Given the description of an element on the screen output the (x, y) to click on. 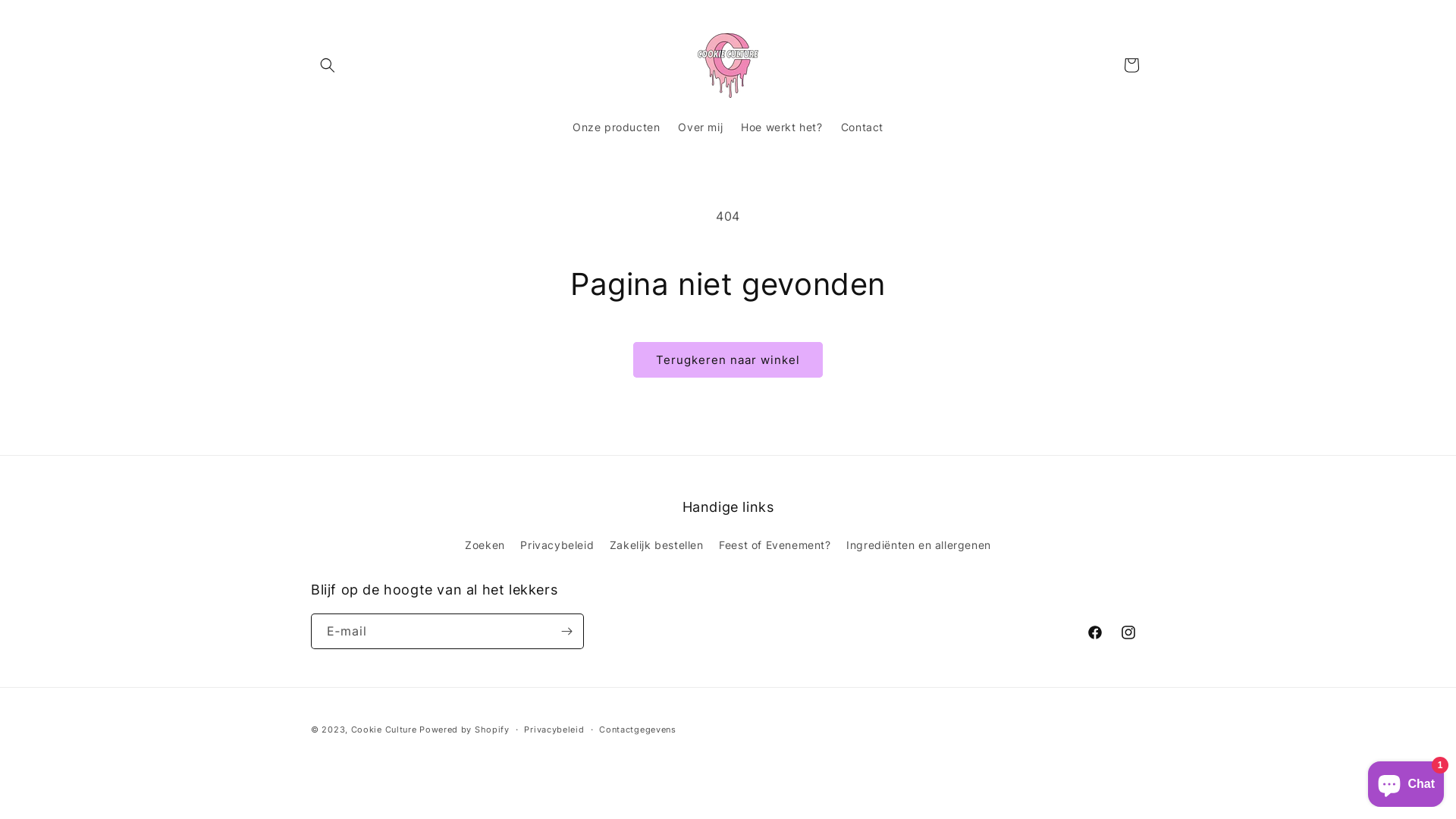
Zoeken Element type: text (484, 546)
Hoe werkt het? Element type: text (781, 126)
Zakelijk bestellen Element type: text (656, 544)
Contactgegevens Element type: text (637, 729)
Contact Element type: text (861, 126)
Winkelwagen Element type: text (1131, 64)
Facebook Element type: text (1094, 632)
Cookie Culture Element type: text (384, 729)
Over mij Element type: text (699, 126)
Privacybeleid Element type: text (553, 729)
Privacybeleid Element type: text (556, 544)
Instagram Element type: text (1128, 632)
Onze producten Element type: text (615, 126)
Terugkeren naar winkel Element type: text (727, 359)
Feest of Evenement? Element type: text (774, 544)
Onlinewinkel-chat van Shopify Element type: hover (1405, 780)
